Given the description of an element on the screen output the (x, y) to click on. 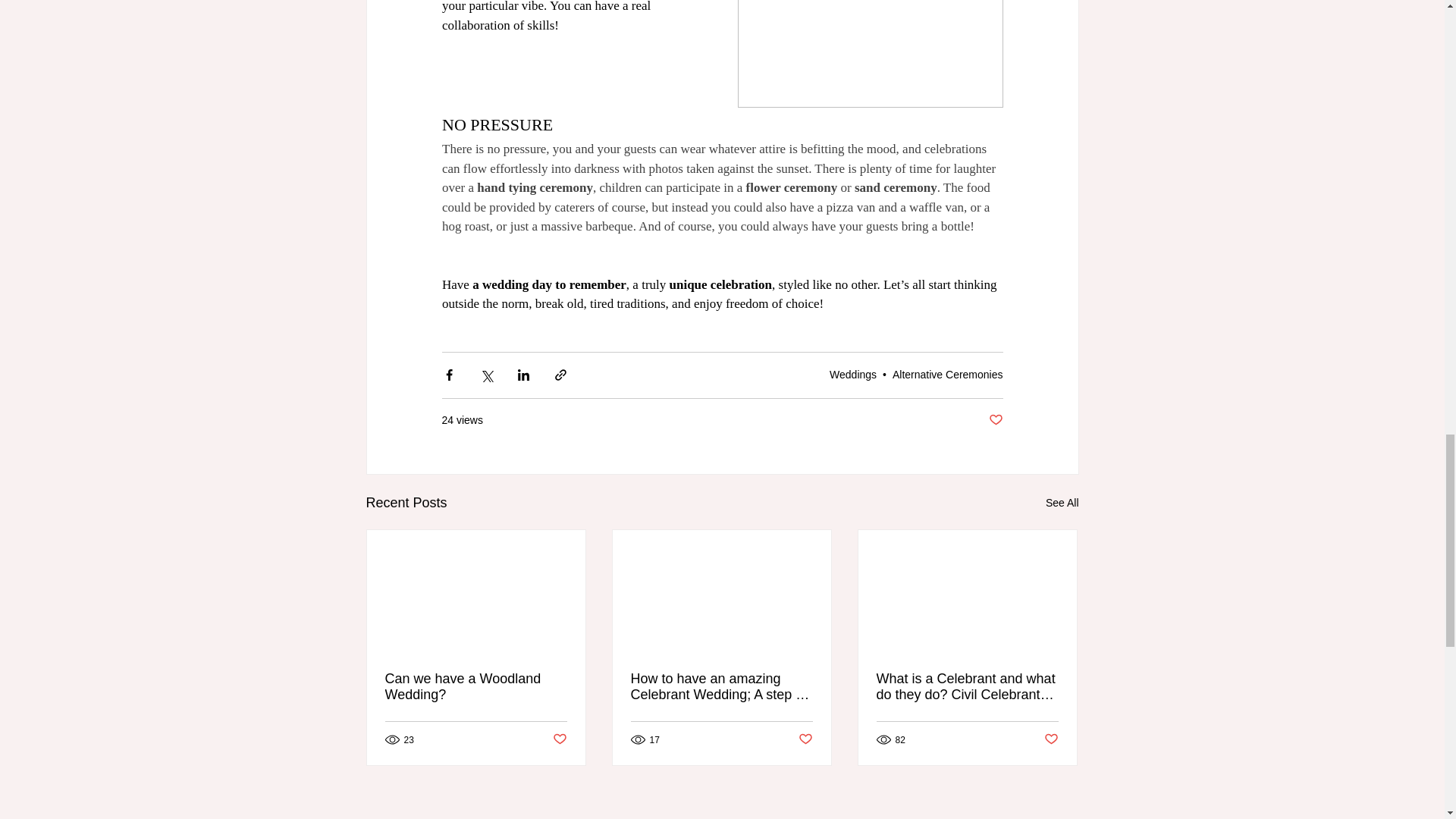
See All (1061, 503)
Alternative Ceremonies (947, 374)
What is a Celebrant and what do they do? Civil Celebrants UK (967, 686)
Can we have a Woodland Wedding? (476, 686)
Post not marked as liked (804, 739)
Weddings (852, 374)
Post not marked as liked (558, 739)
Post not marked as liked (995, 420)
Post not marked as liked (1050, 739)
